Given the description of an element on the screen output the (x, y) to click on. 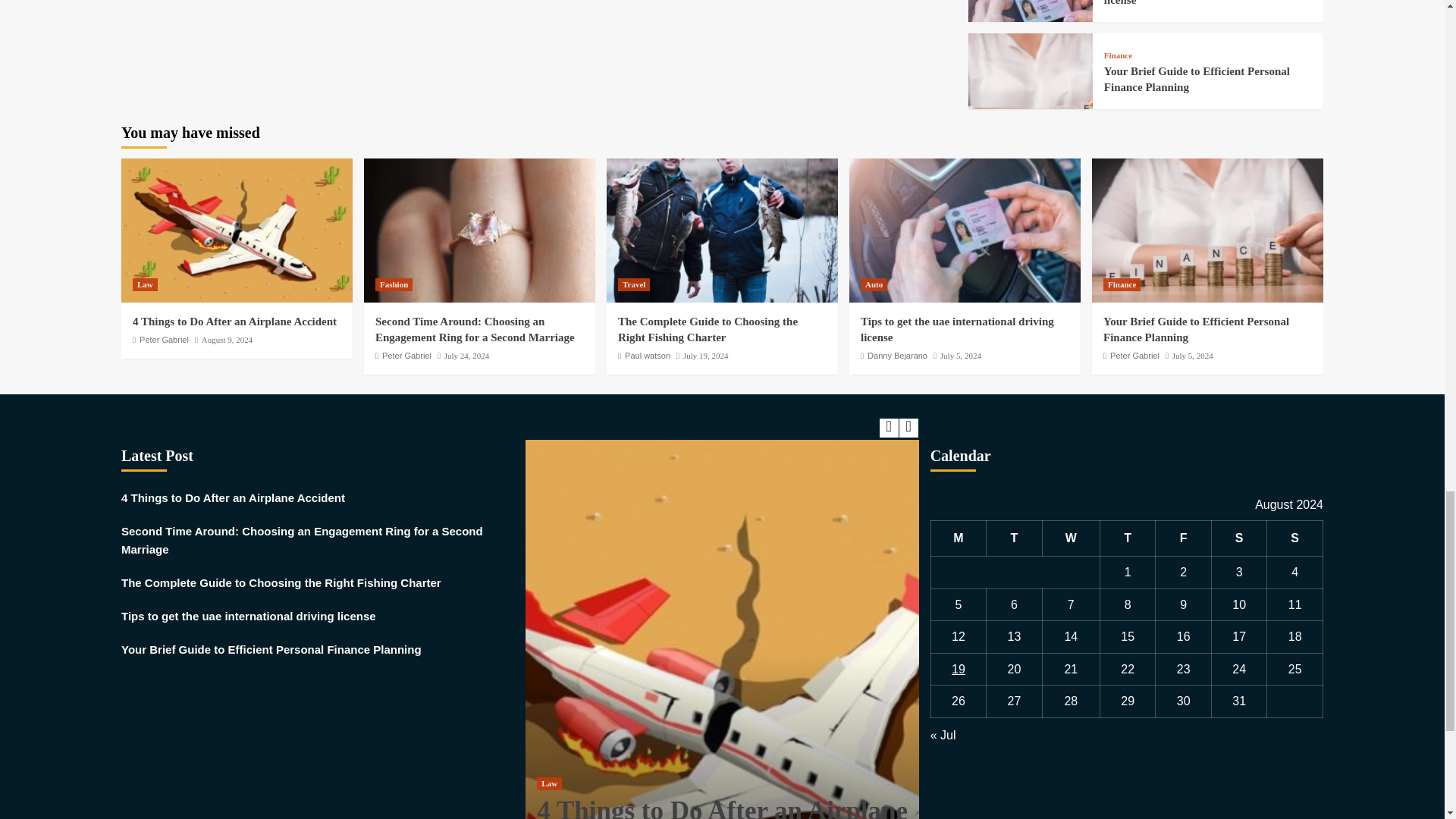
Saturday (1238, 538)
Thursday (1127, 538)
Monday (958, 538)
Tuesday (1014, 538)
Friday (1183, 538)
Sunday (1294, 538)
Wednesday (1070, 538)
